Given the description of an element on the screen output the (x, y) to click on. 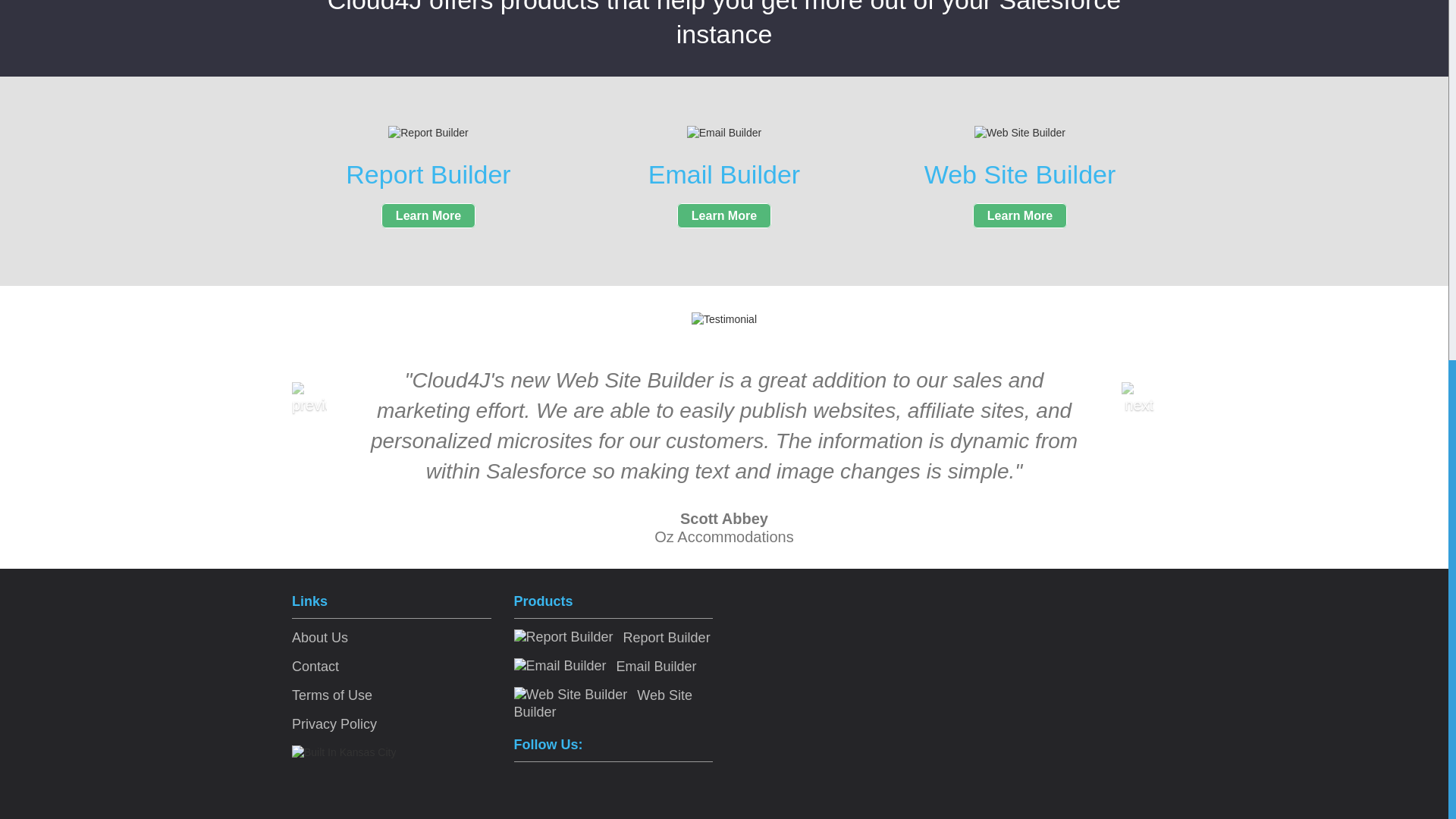
Web Site Builder (603, 703)
Contact (315, 666)
Learn More (1019, 215)
About Us (319, 637)
Report Builder (611, 637)
Terms of Use (332, 694)
Learn More (724, 215)
Learn More (428, 215)
Email Builder (605, 666)
Privacy Policy (334, 724)
